Given the description of an element on the screen output the (x, y) to click on. 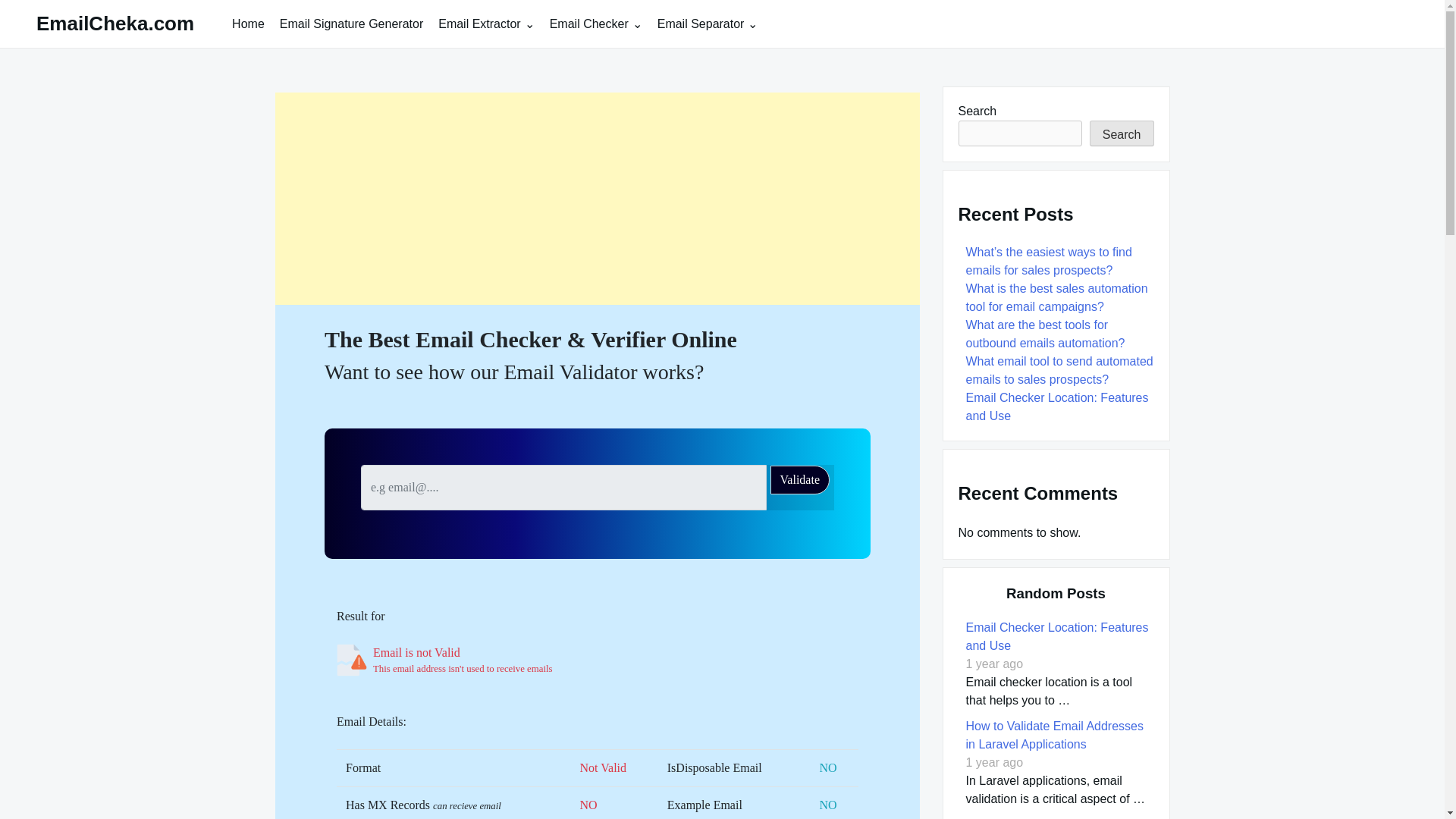
Email Checker Location: Features and Use (1057, 635)
How to Validate Email Addresses in Laravel Applications (1054, 735)
Home (248, 23)
Search (1121, 133)
Email Signature Generator (351, 23)
EmailCheka.com (114, 23)
Email Extractor (485, 23)
Email Checker Location: Features and Use (1057, 406)
Email Separator (707, 23)
What are the best tools for outbound emails automation?  (1047, 333)
What is the best sales automation tool for email campaigns?  (1057, 296)
Email Checker (595, 23)
